Given the description of an element on the screen output the (x, y) to click on. 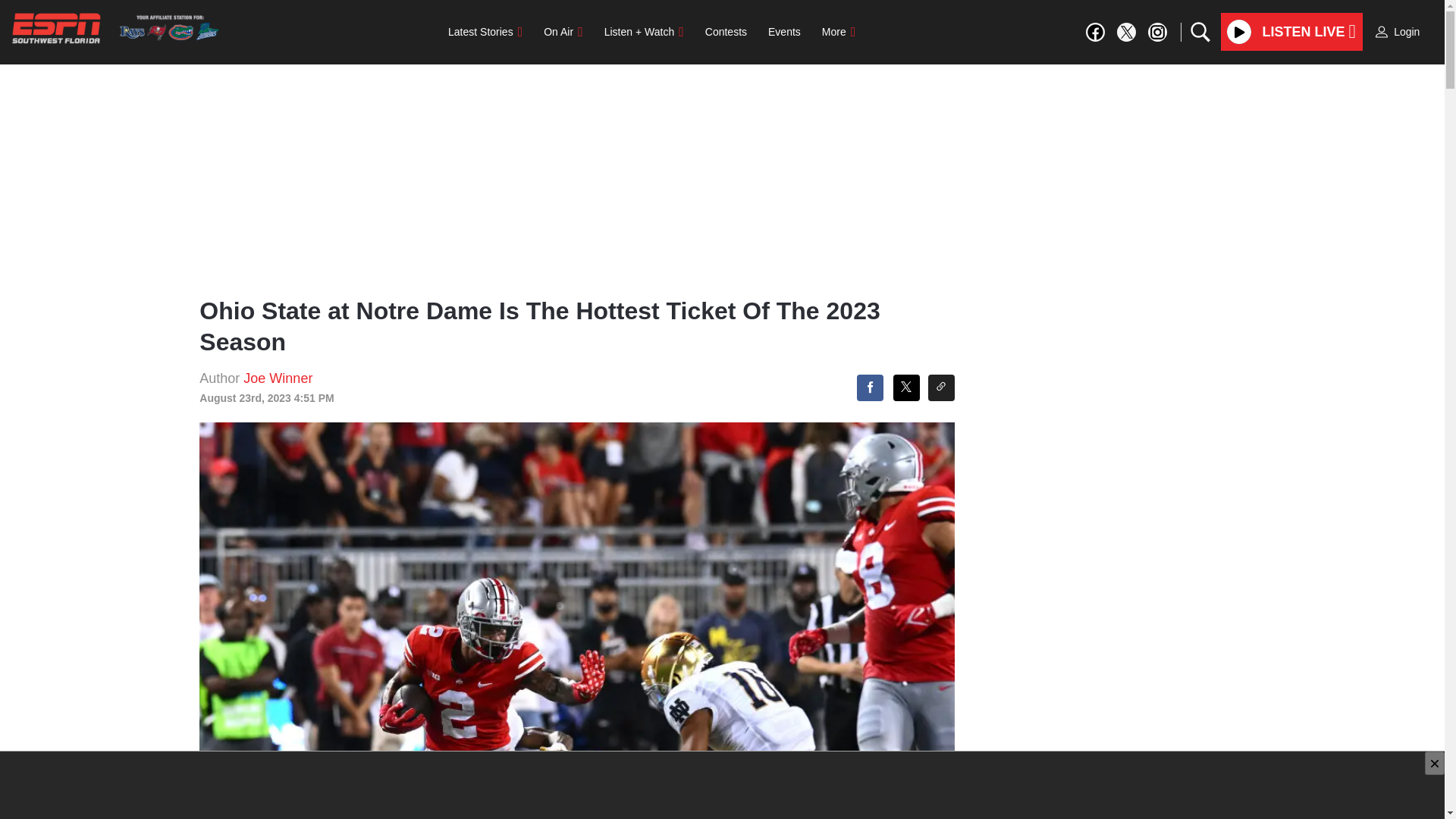
More (838, 31)
Close AdCheckmark indicating ad close (1434, 763)
Events (783, 31)
Contests (725, 31)
Joe Winner (278, 378)
Latest Stories (485, 31)
On Air (562, 31)
